Given the description of an element on the screen output the (x, y) to click on. 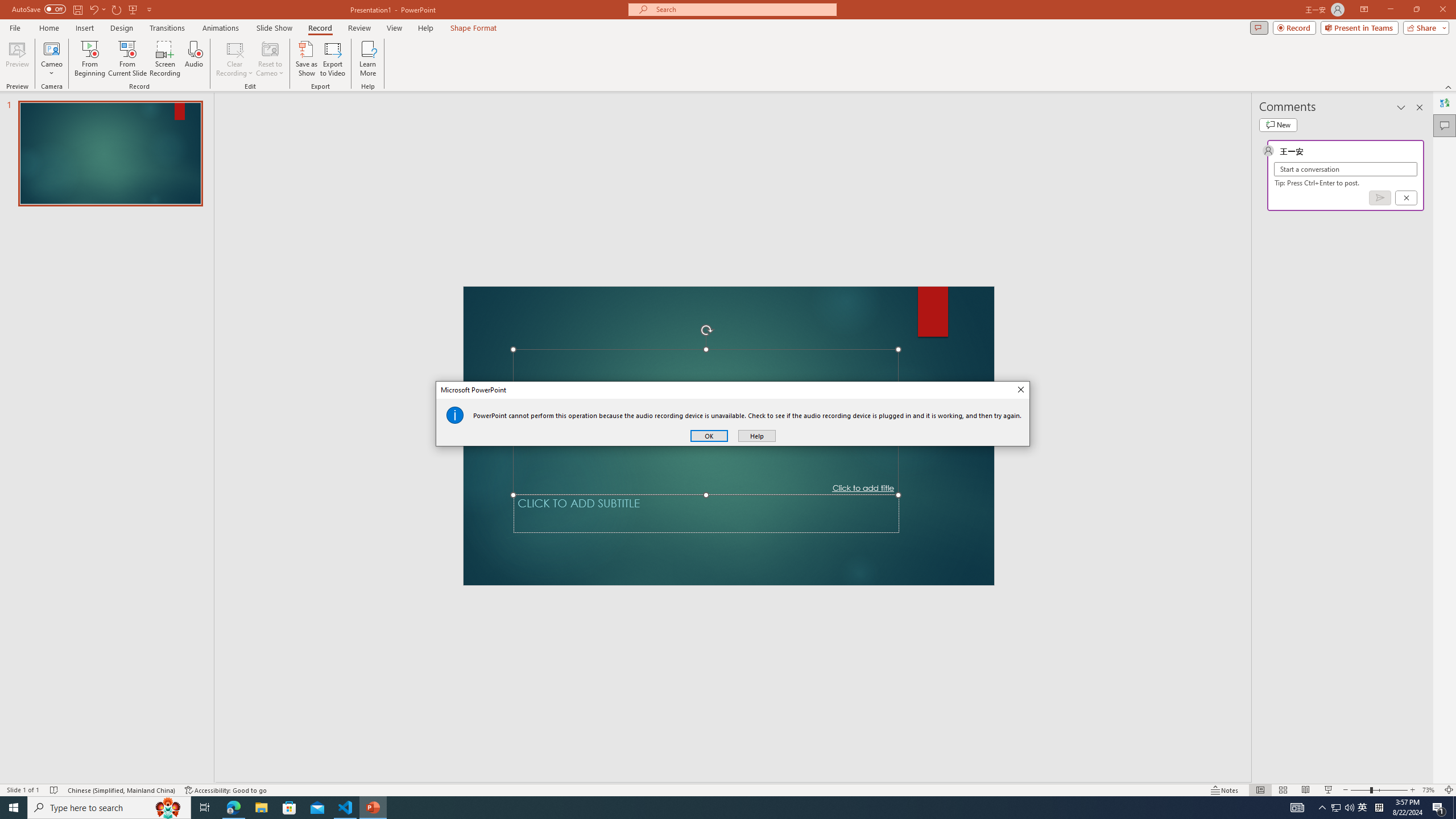
Notes  (1225, 790)
Save (77, 9)
Collapse the Ribbon (1448, 86)
Tray Input Indicator - Chinese (Simplified, China) (1378, 807)
File Tab (15, 27)
